Given the description of an element on the screen output the (x, y) to click on. 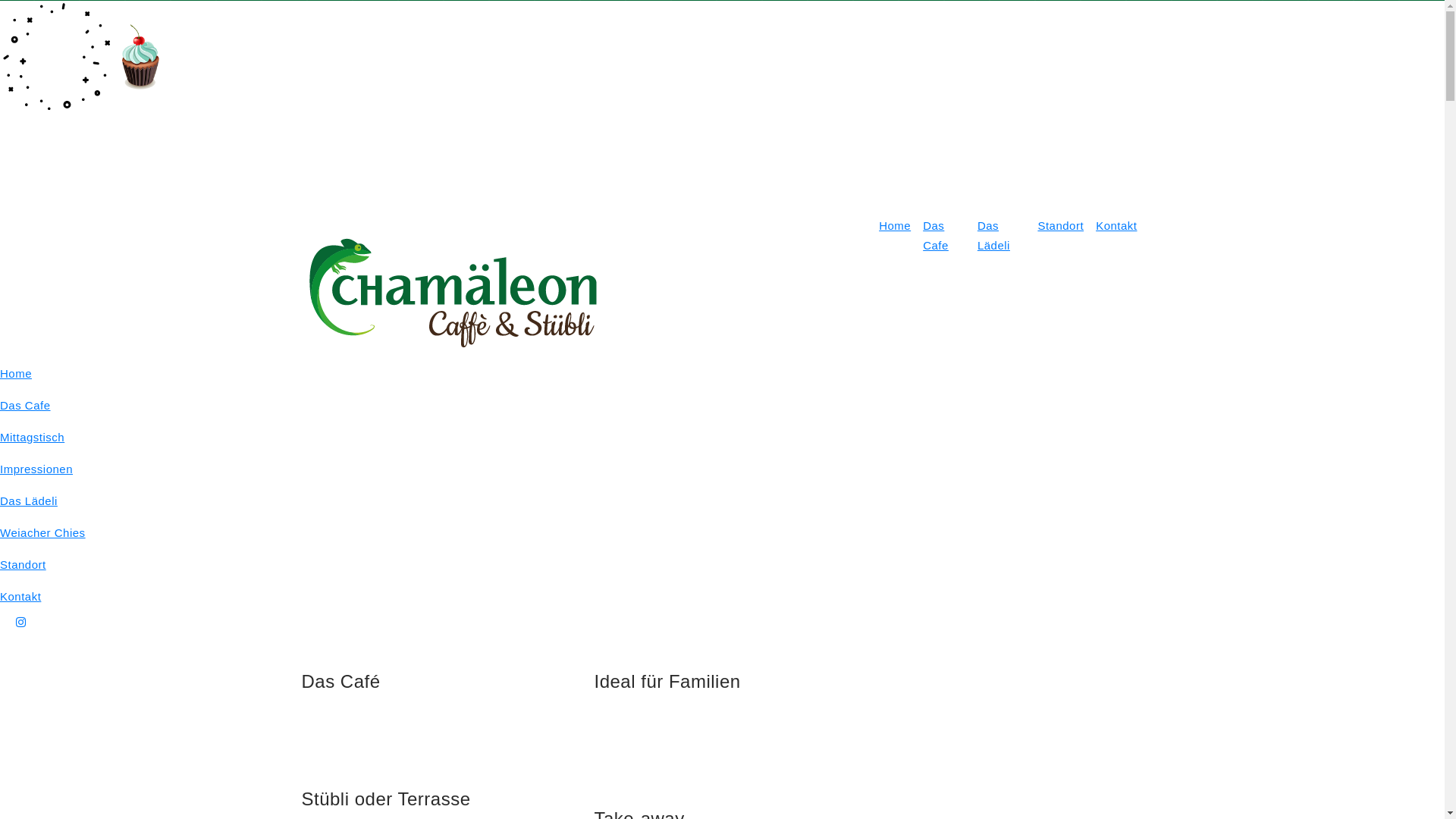
Kontakt Element type: text (1115, 235)
Home Element type: text (722, 373)
Impressionen Element type: text (722, 469)
Kontakt Element type: text (722, 596)
Weiacher Chies Element type: text (722, 533)
Standort Element type: text (722, 564)
Home Element type: text (894, 235)
Das Cafe Element type: text (722, 405)
Standort Element type: text (1060, 235)
Das Cafe Element type: text (943, 235)
Mittagstisch Element type: text (722, 437)
